Given the description of an element on the screen output the (x, y) to click on. 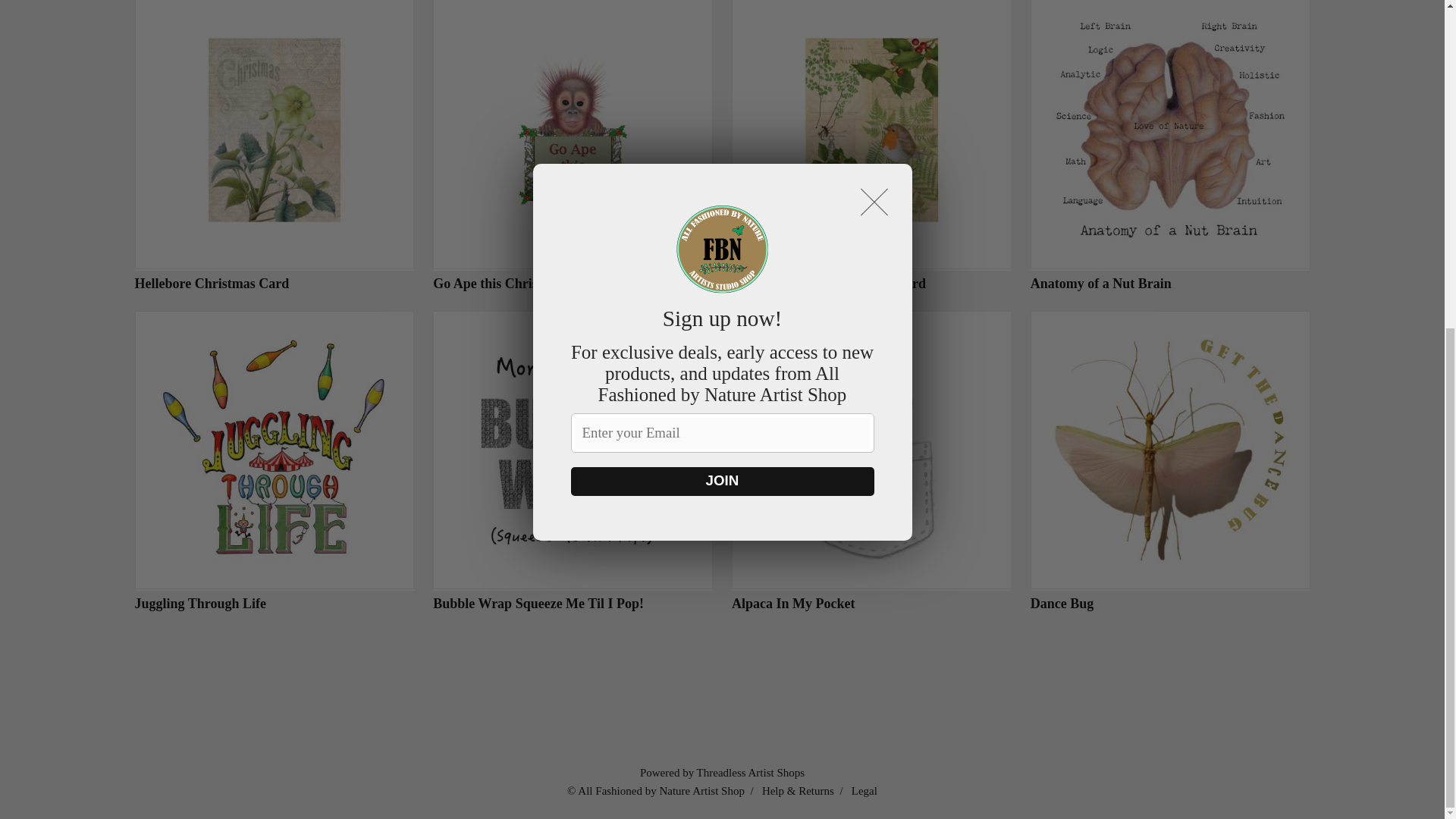
Alpaca In My Pocket (871, 461)
Buy Bubble Wrap Squeeze Me Til I Pop! (572, 461)
Dance Bug (1170, 461)
Hellebore Christmas Card (274, 145)
Go Ape this Christmas! (572, 145)
Robin and Holly Christmas Card (871, 145)
Buy Juggling Through Life (274, 461)
Legal (864, 790)
Buy Robin and Holly Christmas Card (871, 145)
Bubble Wrap Squeeze Me Til I Pop! (572, 461)
Threadless Artist Shops (751, 772)
Anatomy of a Nut Brain (1170, 145)
Buy Go Ape this Christmas! (572, 145)
Buy Hellebore Christmas Card (274, 145)
Juggling Through Life (274, 461)
